Given the description of an element on the screen output the (x, y) to click on. 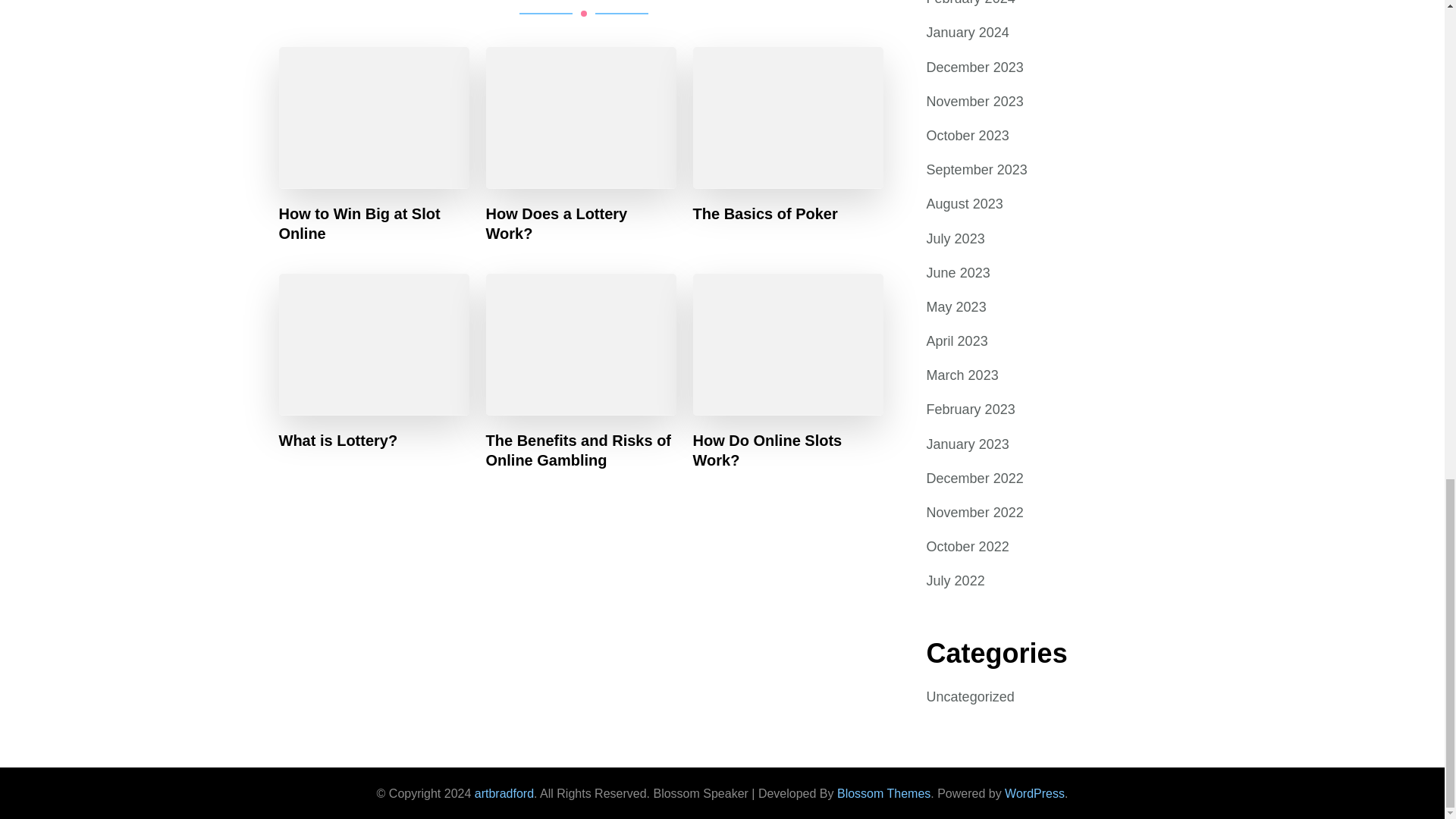
How to Win Big at Slot Online (374, 223)
How Does a Lottery Work? (581, 223)
How Do Online Slots Work? (788, 449)
The Basics of Poker (765, 213)
The Benefits and Risks of Online Gambling (581, 449)
What is Lottery? (338, 439)
